Given the description of an element on the screen output the (x, y) to click on. 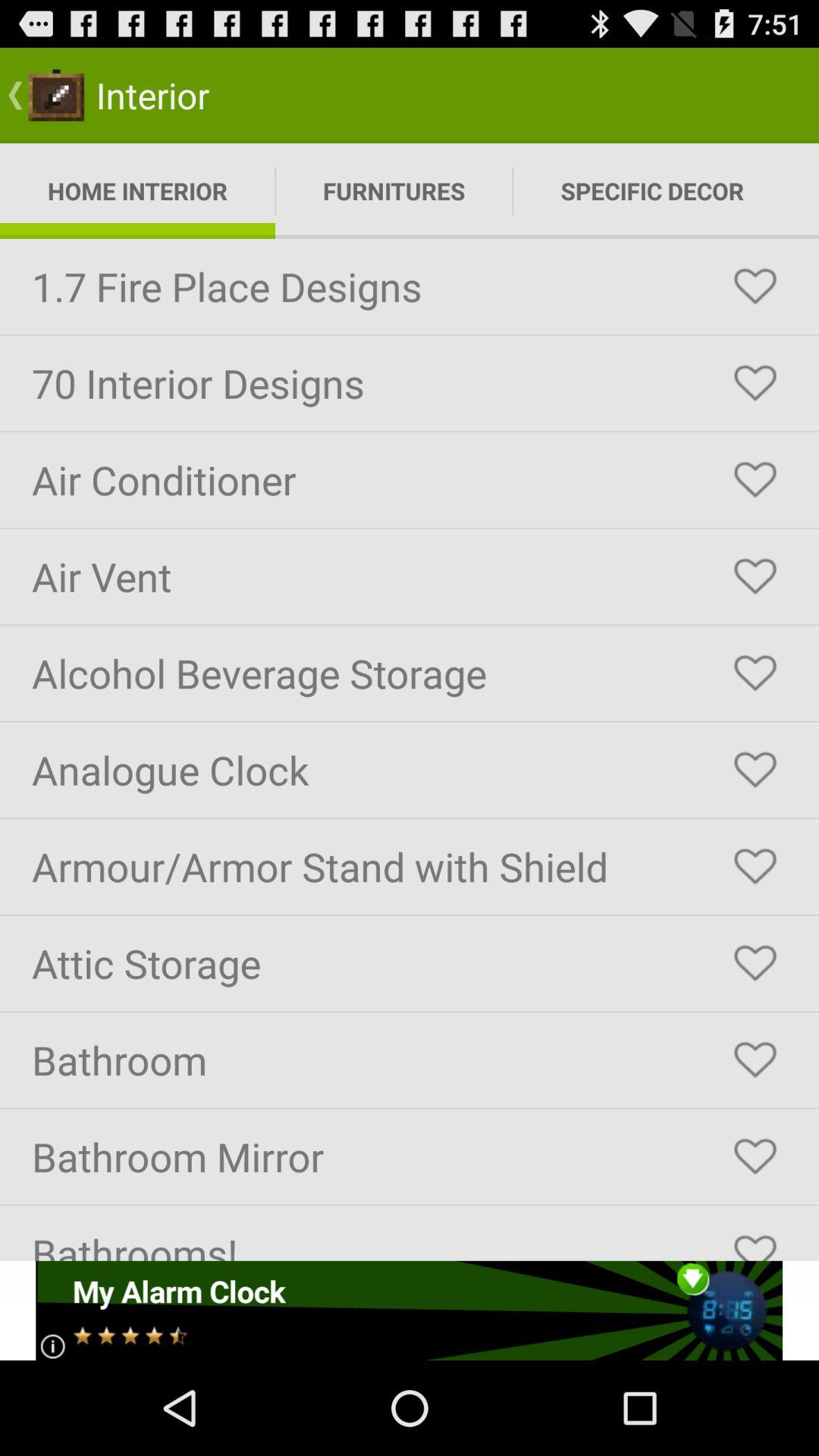
add to favorite (755, 963)
